Given the description of an element on the screen output the (x, y) to click on. 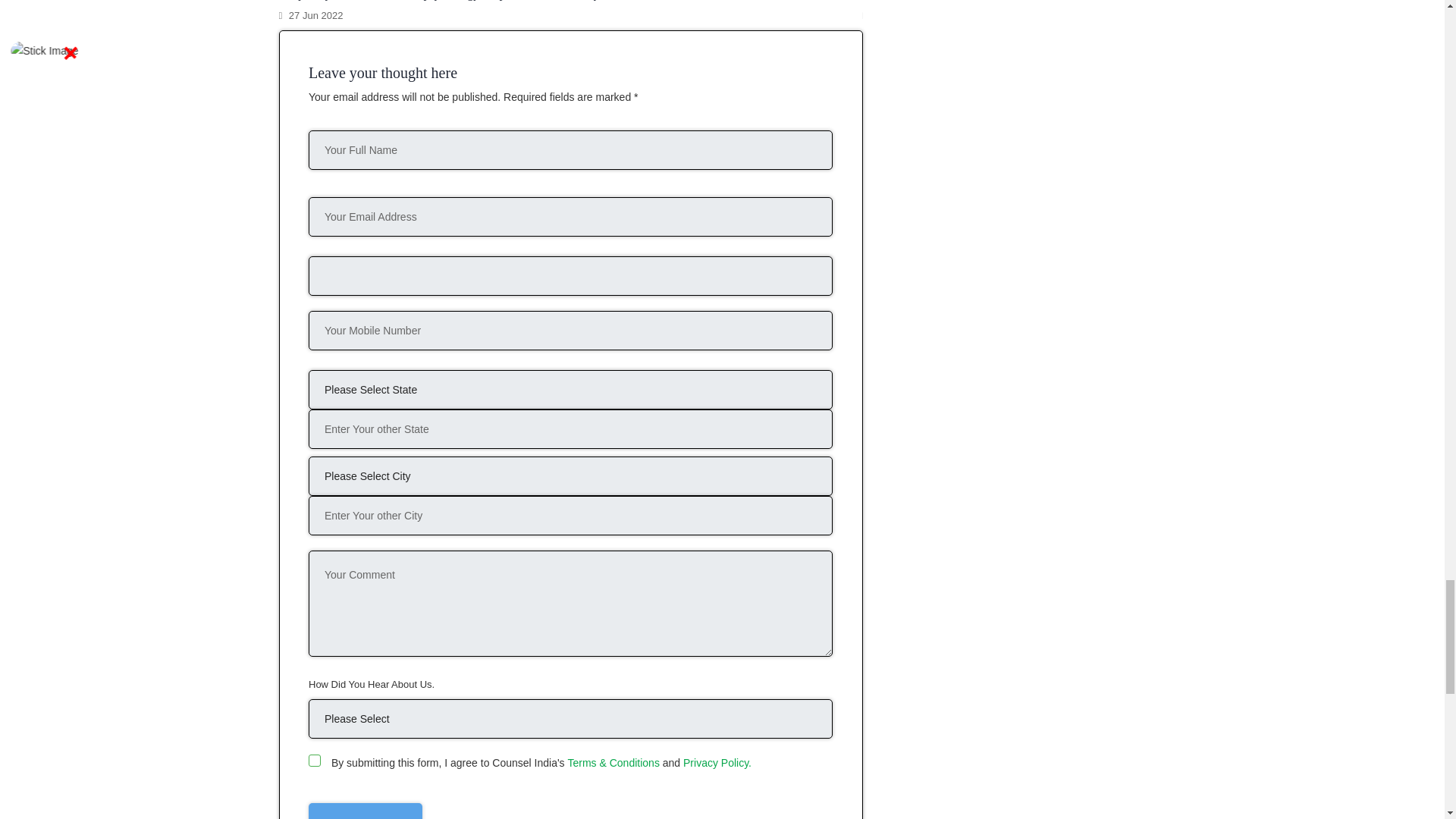
Please fill out this field (570, 149)
Please fill out this field (570, 330)
Please fill out this field (570, 275)
Please fill out this field (570, 216)
on (314, 760)
Please fill out this field (570, 389)
Please fill out this field (314, 760)
Please fill out this field (570, 603)
Please fill out this field (570, 476)
Please select one item in the list (570, 718)
